Given the description of an element on the screen output the (x, y) to click on. 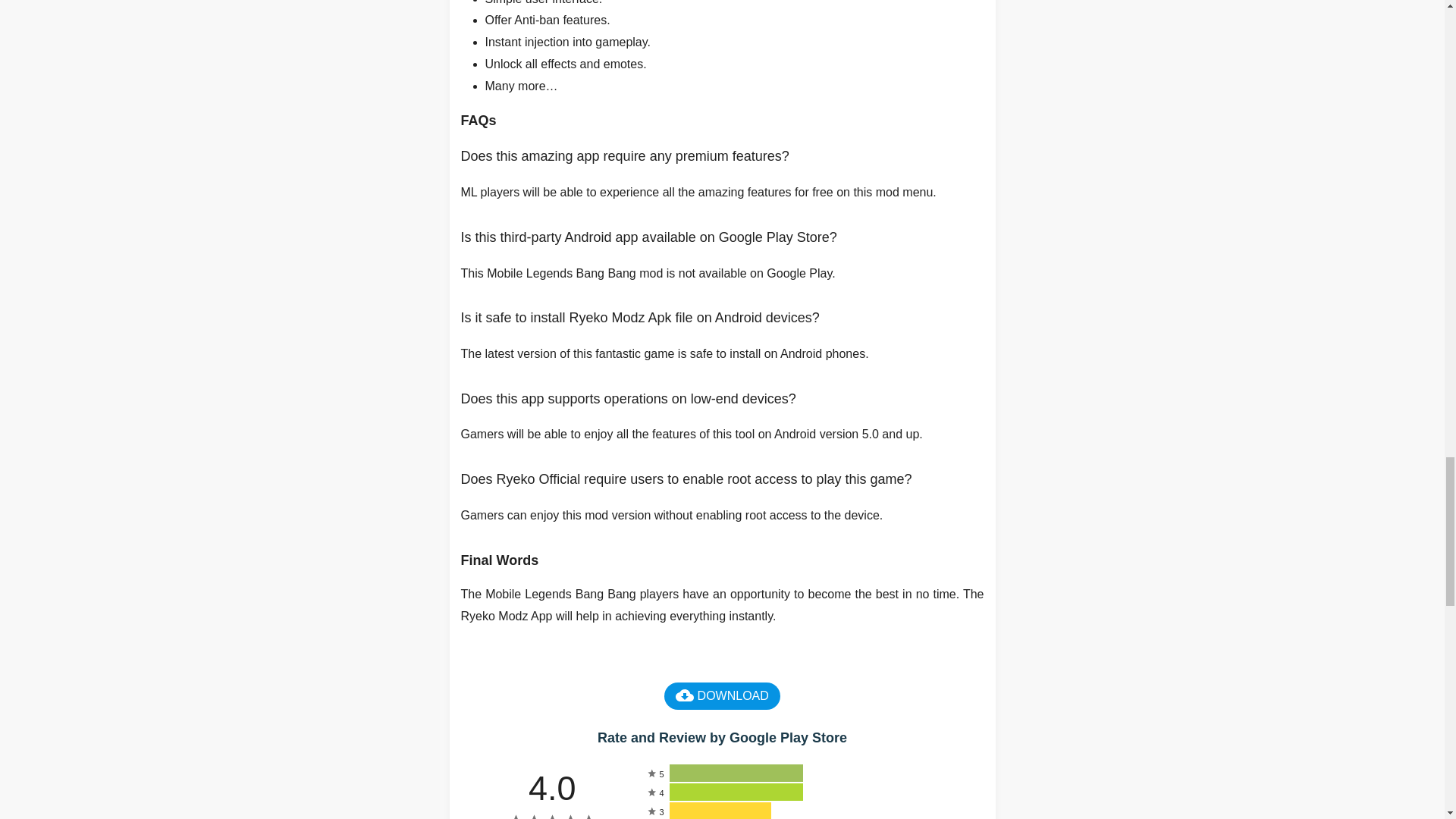
DOWNLOAD (721, 696)
